Given the description of an element on the screen output the (x, y) to click on. 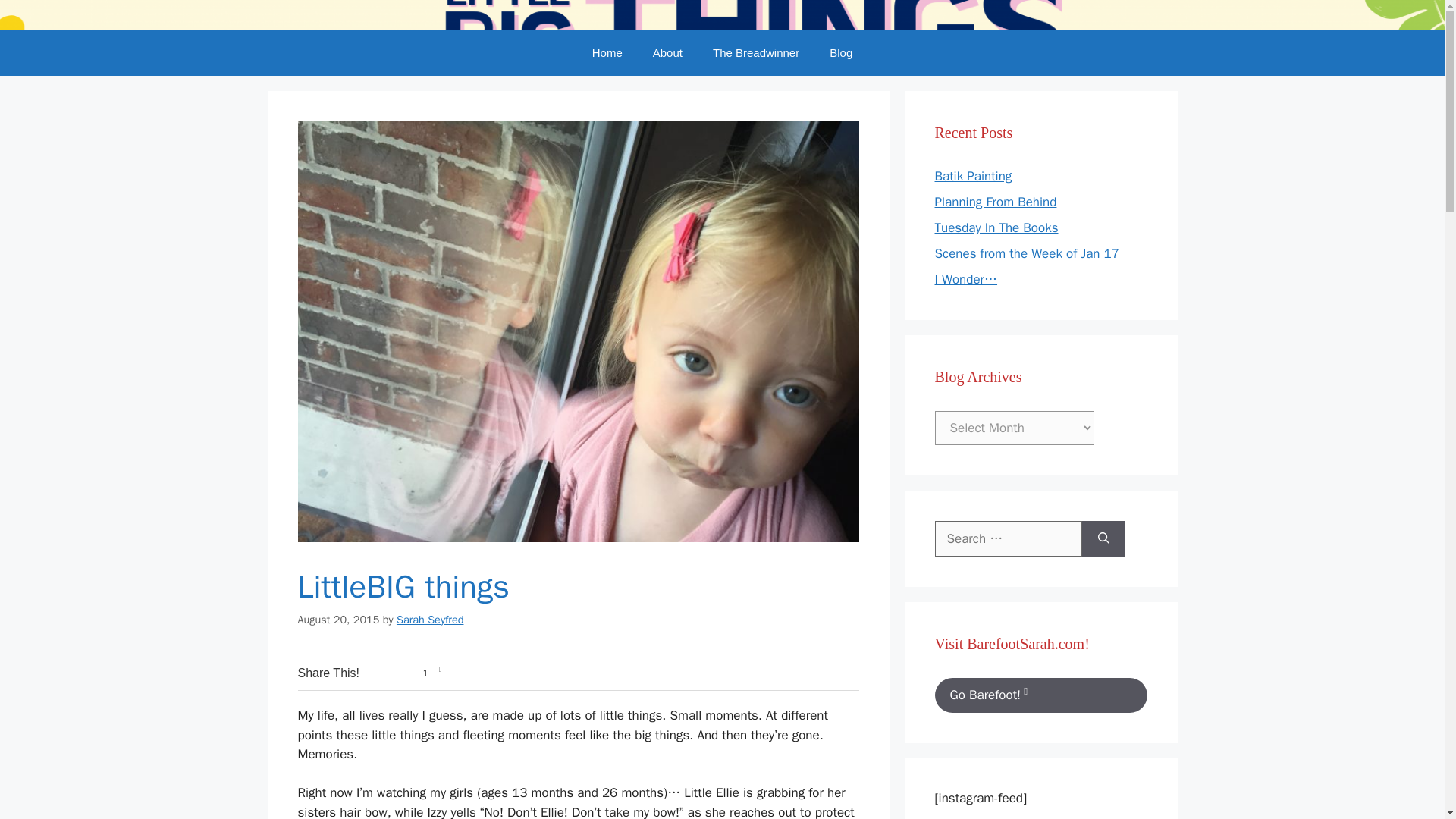
About (667, 53)
Sarah Seyfred (430, 619)
Search for: (1007, 538)
1 (408, 673)
Go Barefoot! (1040, 695)
Batik Painting (972, 176)
View all posts by Sarah Seyfred (430, 619)
Blog (840, 53)
Planning From Behind (995, 201)
Tuesday In The Books (996, 227)
